Given the description of an element on the screen output the (x, y) to click on. 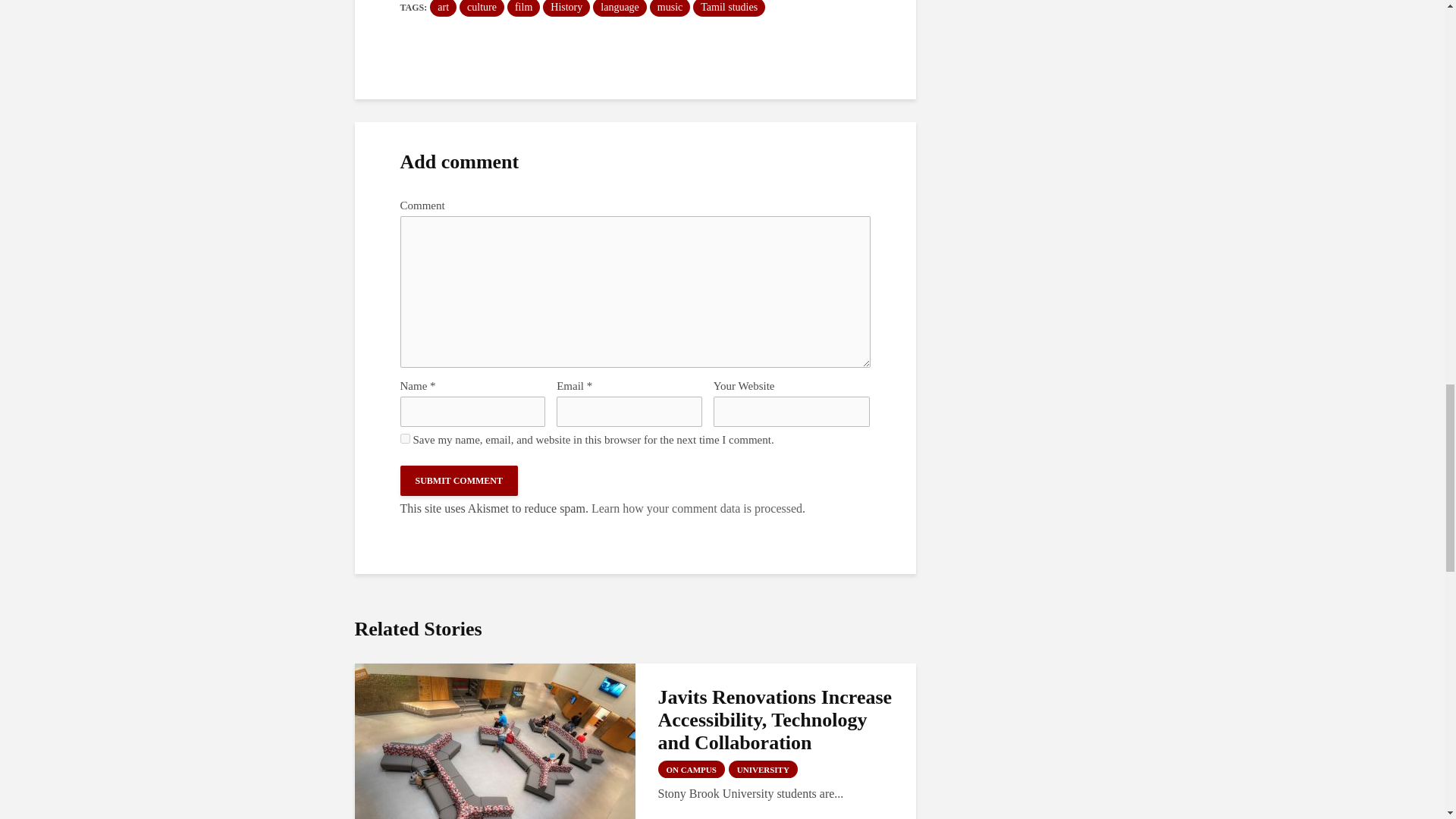
Submit Comment (459, 481)
yes (405, 438)
